Given the description of an element on the screen output the (x, y) to click on. 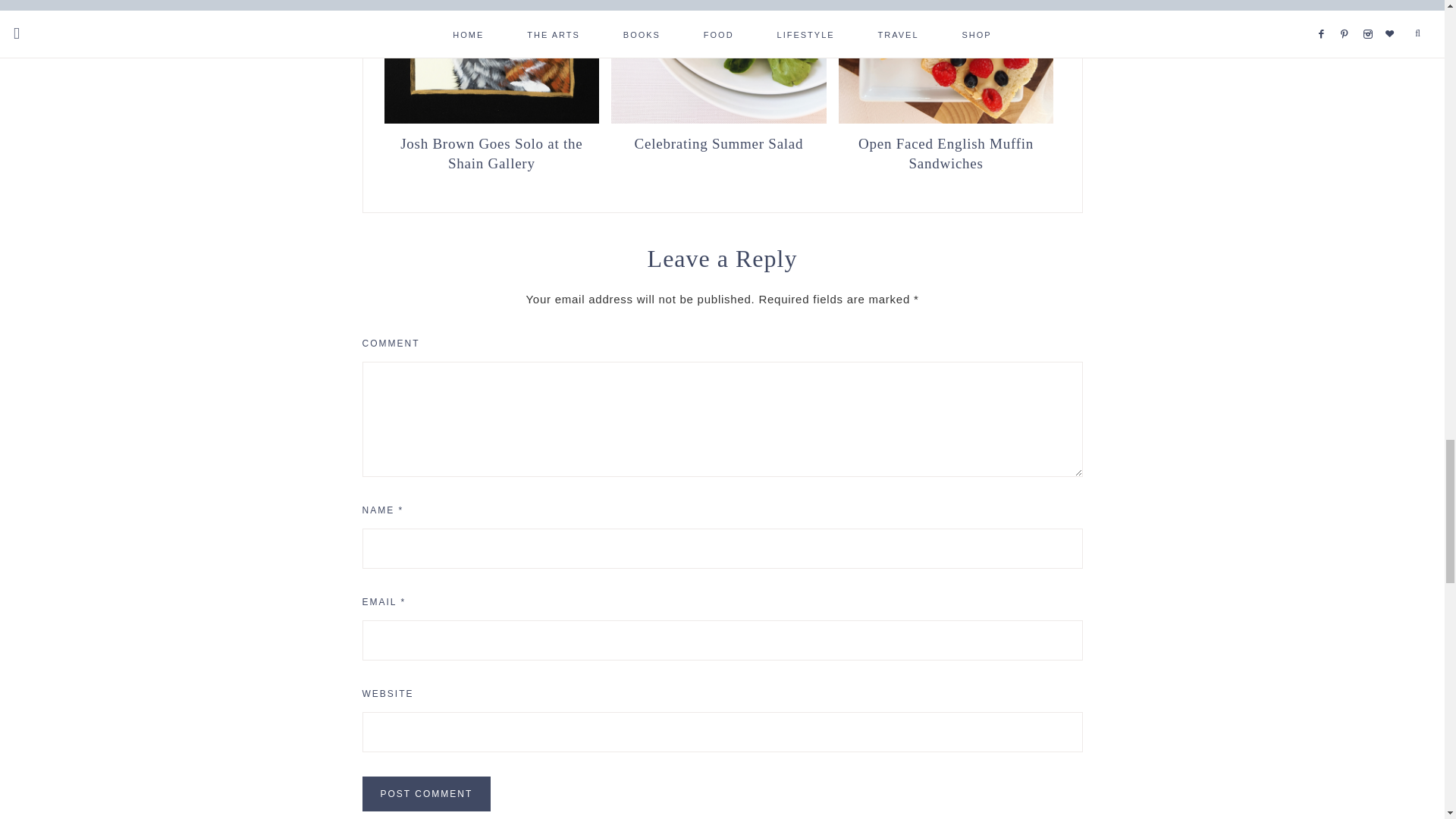
Permanent Link to Josh Brown Goes Solo at the Shain Gallery (491, 119)
Permanent Link to Celebrating Summer Salad (719, 142)
Permanent Link to Josh Brown Goes Solo at the Shain Gallery (491, 152)
Permanent Link to Celebrating Summer Salad (719, 119)
Post Comment (427, 793)
